Given the description of an element on the screen output the (x, y) to click on. 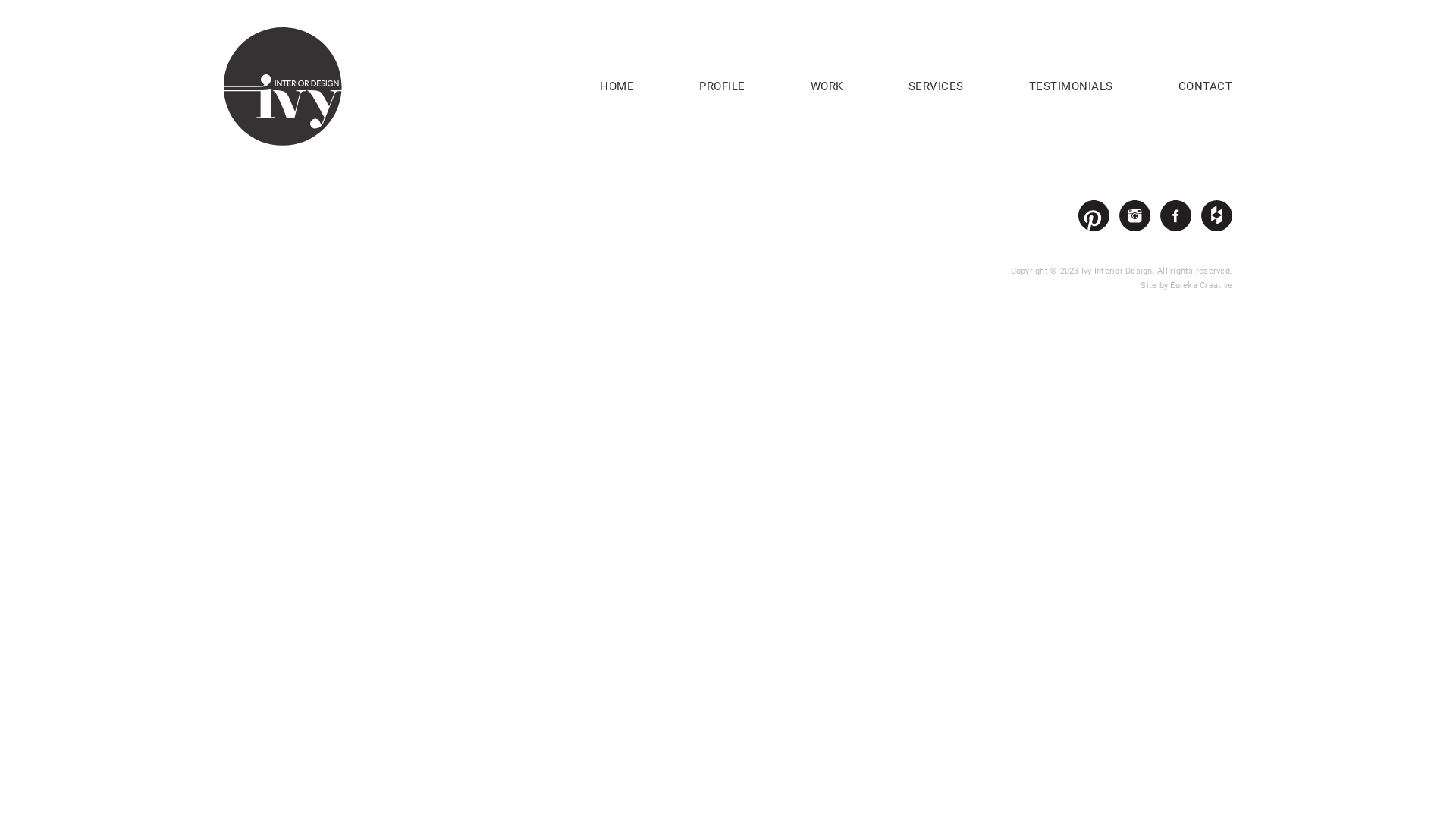
Ivy Interior Design Element type: hover (282, 85)
CONTACT Element type: text (1205, 87)
TESTIMONIALS Element type: text (1070, 87)
PROFILE Element type: text (722, 87)
WORK Element type: text (825, 87)
Ivy Interior Design Element type: hover (282, 86)
SERVICES Element type: text (935, 87)
Eureka Creative Element type: text (1201, 285)
HOME Element type: text (616, 87)
